Given the description of an element on the screen output the (x, y) to click on. 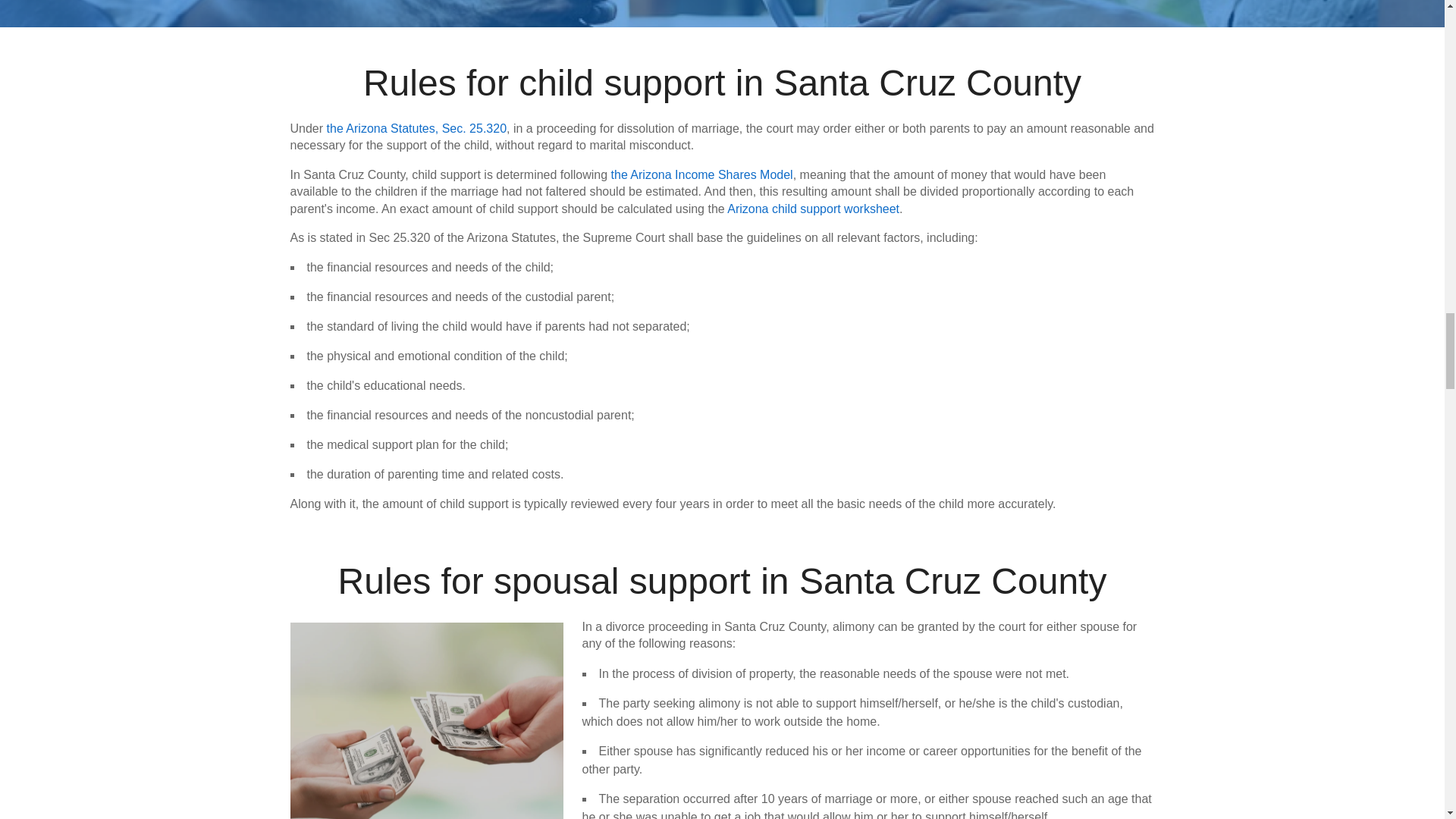
the Arizona Income Shares Model (702, 174)
Arizona child support worksheet (812, 208)
the Arizona Statutes, Sec. 25.320 (416, 128)
